Given the description of an element on the screen output the (x, y) to click on. 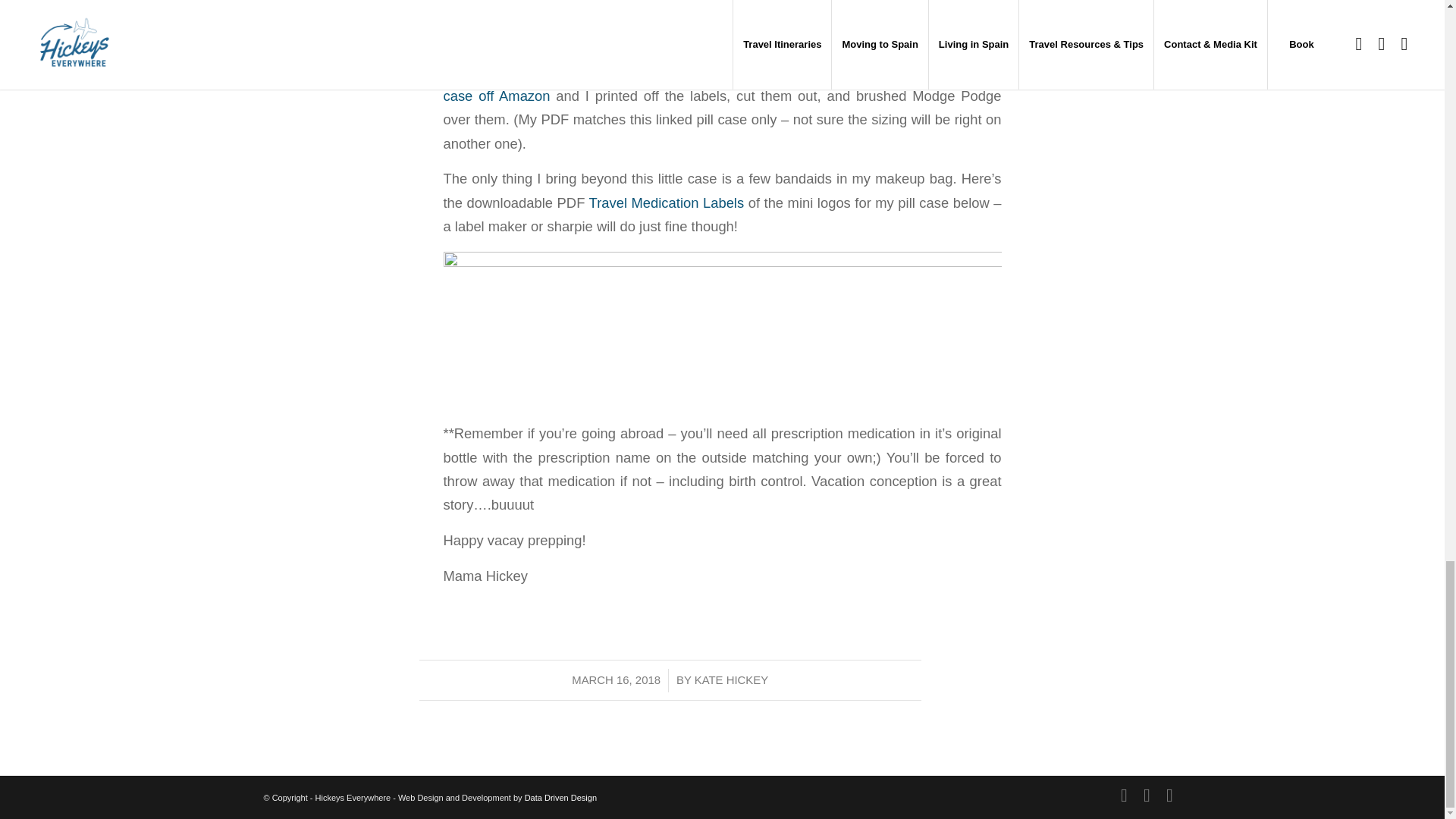
Facebook (1169, 794)
little case off Amazon (721, 84)
Posts by Kate Hickey (731, 680)
Instagram (1124, 794)
Travel Medication Labels  (668, 202)
Data Driven Design (560, 797)
Pinterest (1146, 794)
KATE HICKEY (731, 680)
